Given the description of an element on the screen output the (x, y) to click on. 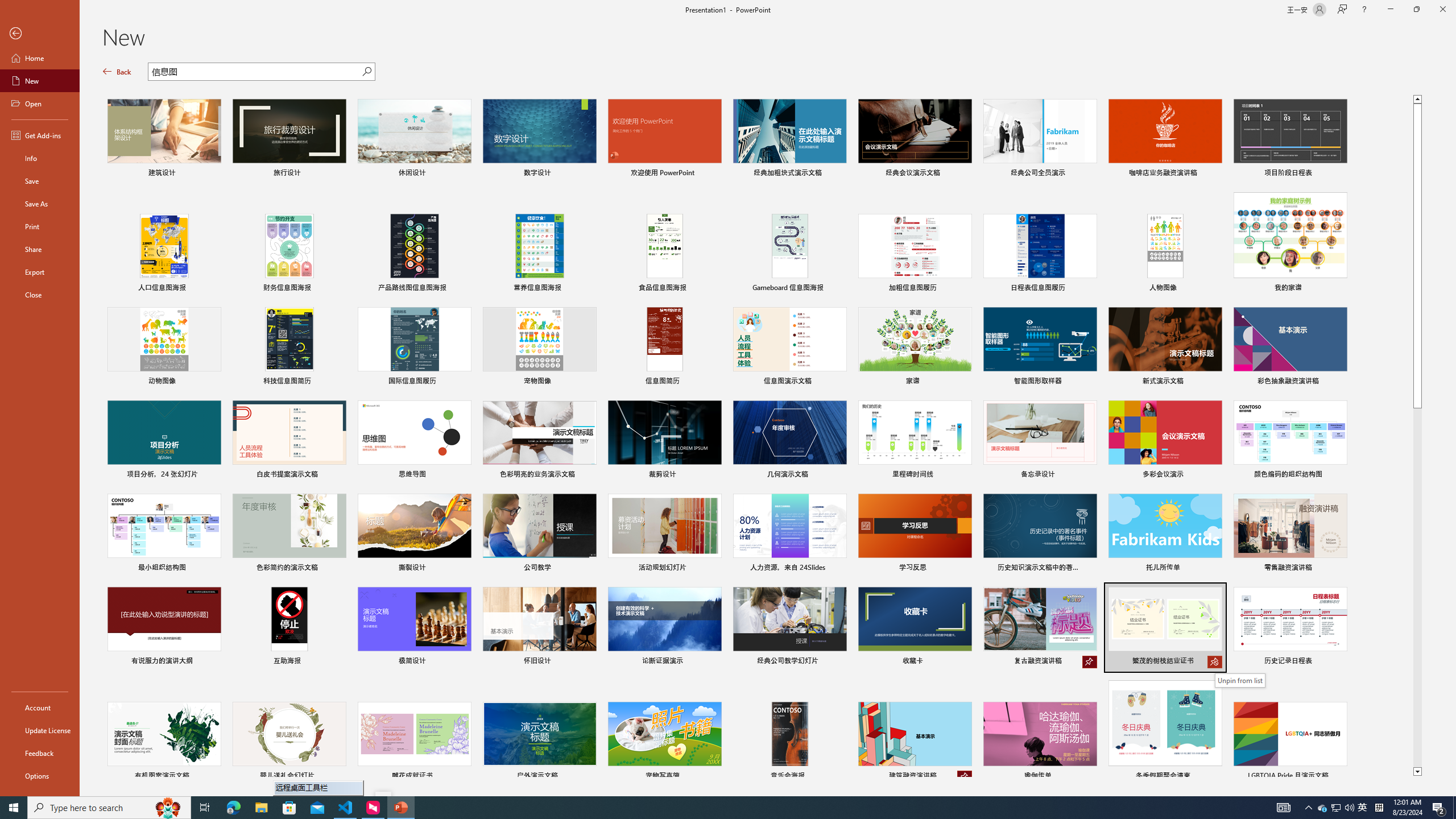
Export (40, 271)
Account (40, 707)
Pin to list (1339, 776)
